Given the description of an element on the screen output the (x, y) to click on. 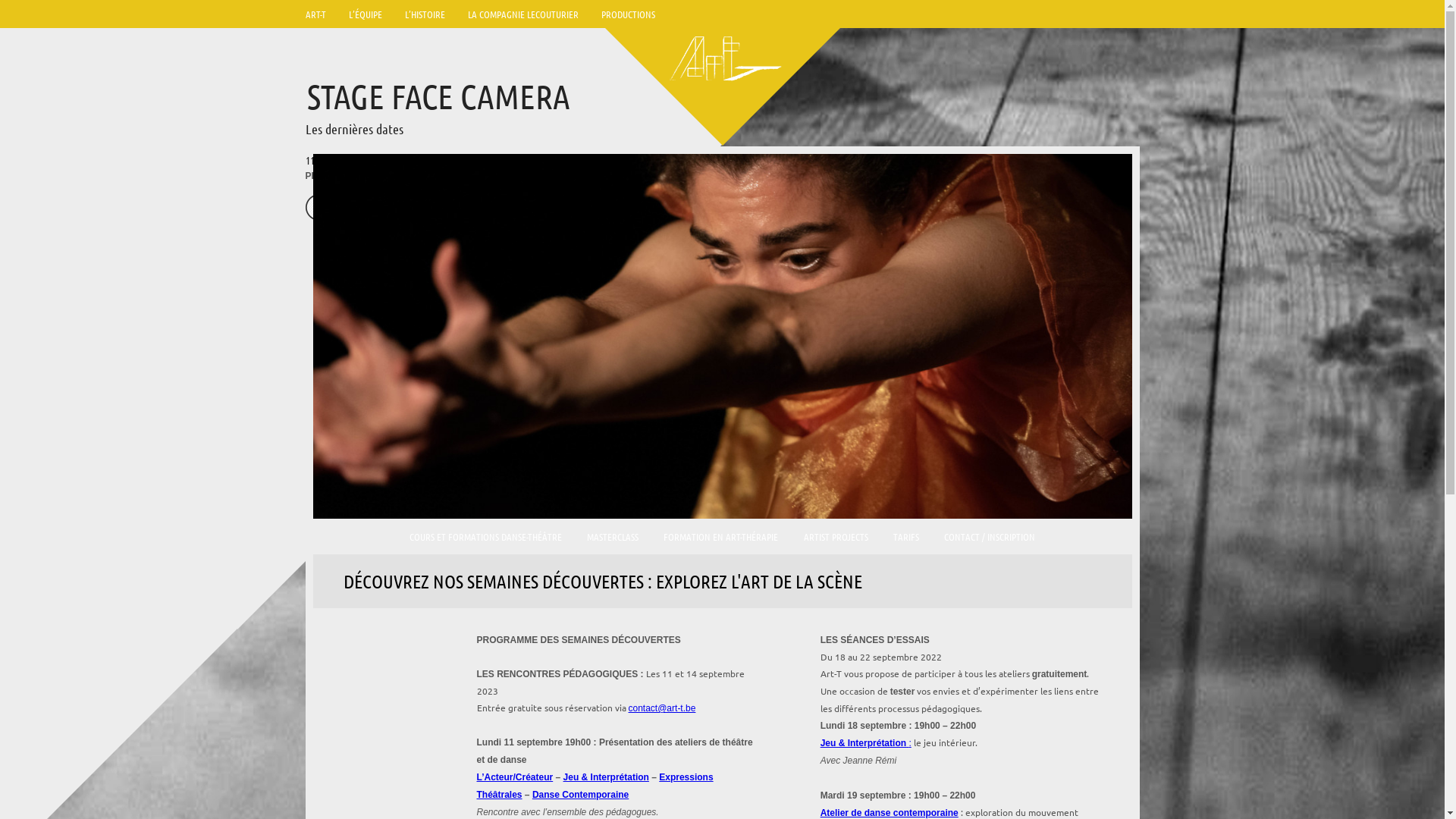
PRODUCTIONS Element type: text (627, 14)
LA COMPAGNIE LECOUTURIER Element type: text (522, 14)
Danse Contemporaine Element type: text (580, 794)
Atelier de danse contemporaine Element type: text (889, 812)
Next Element type: text (350, 206)
ART-T Element type: text (315, 14)
CONTACT / INSCRIPTION Element type: text (989, 537)
Art-T Element type: text (721, 61)
TARIFS Element type: text (905, 537)
ARTIST PROJECTS Element type: text (835, 537)
MASTERCLASS Element type: text (612, 537)
Prev Element type: text (318, 206)
contact@art-t.be Element type: text (661, 707)
